Given the description of an element on the screen output the (x, y) to click on. 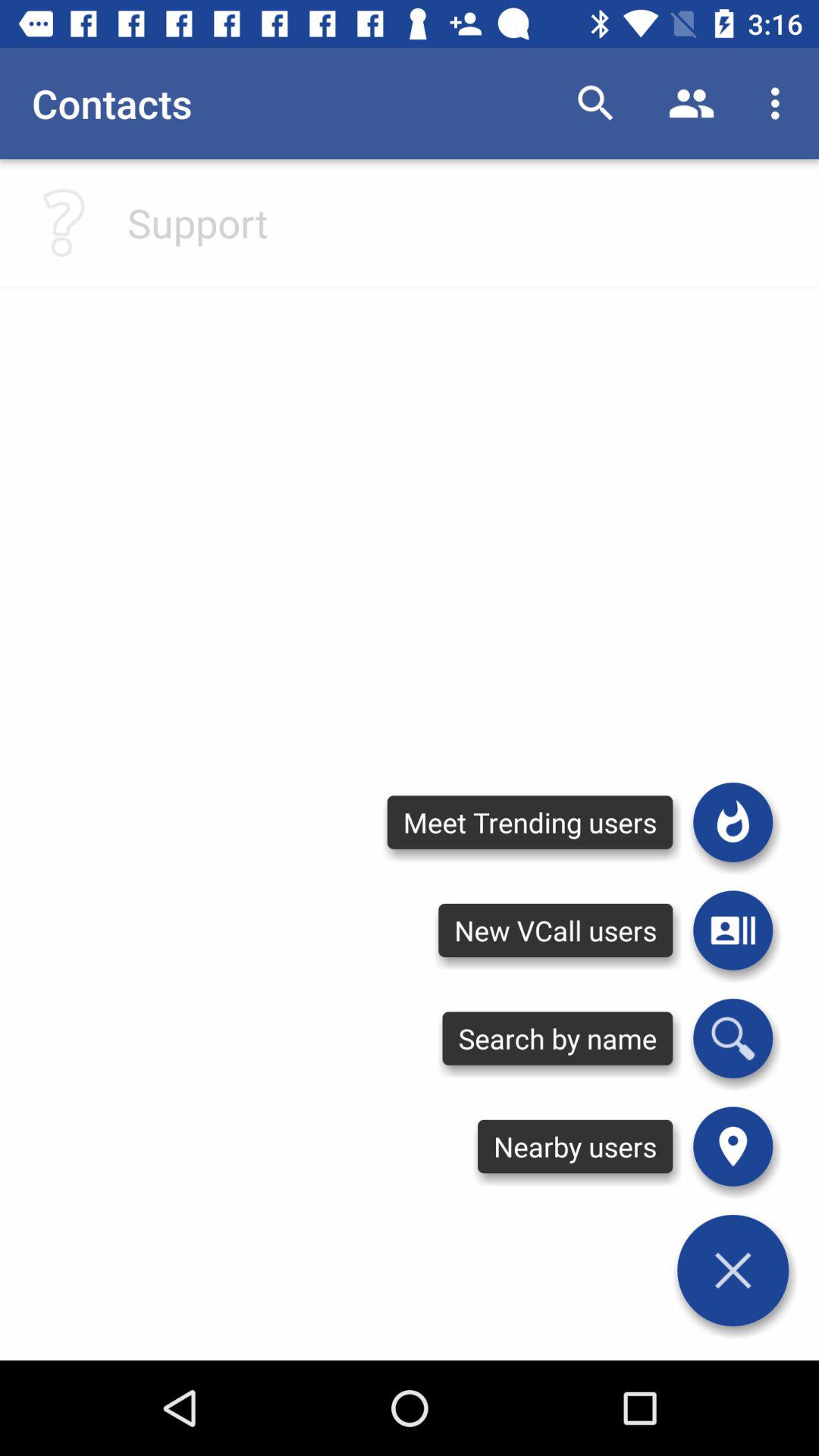
launch the icon next to support (63, 222)
